Given the description of an element on the screen output the (x, y) to click on. 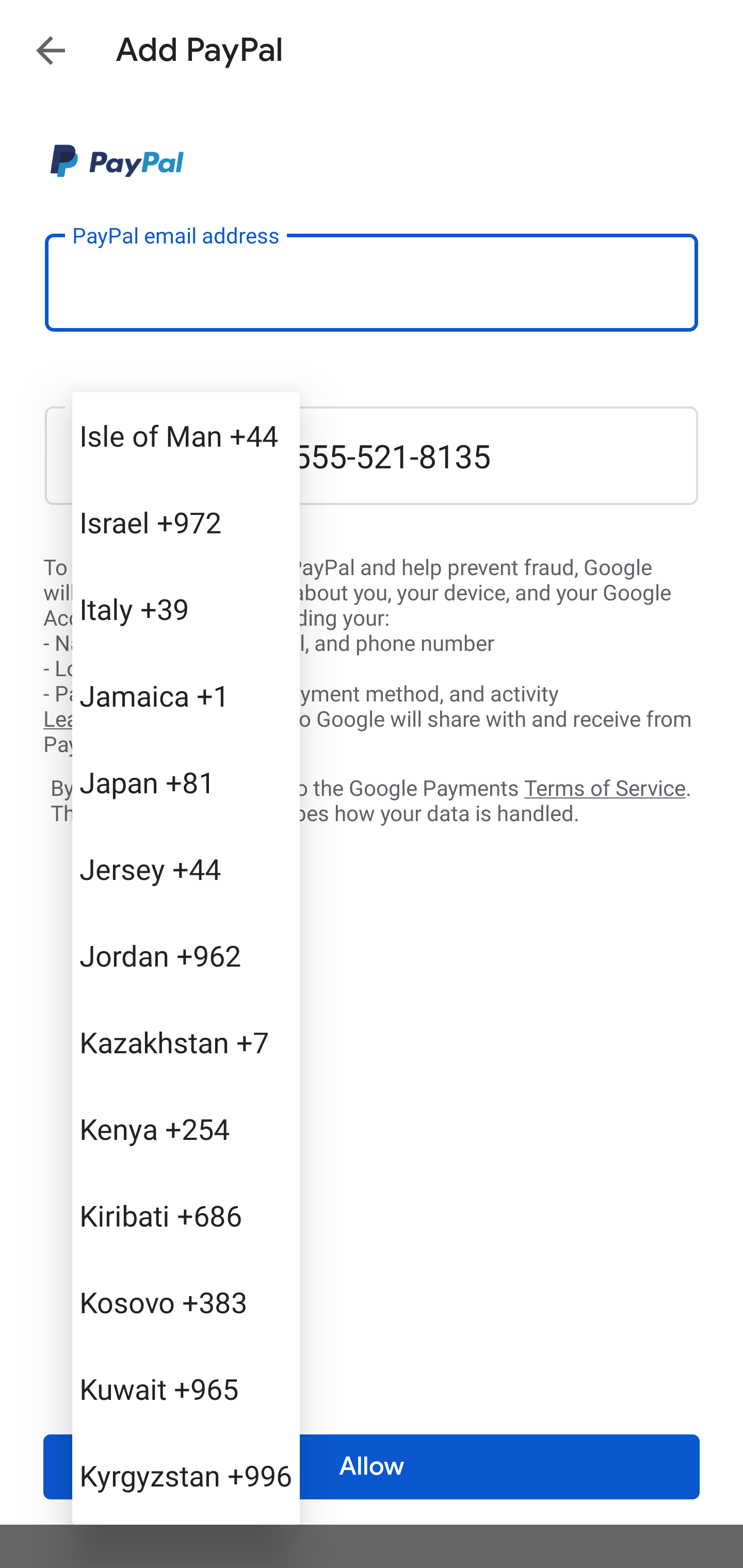
Isle of Man +44 (185, 435)
Israel +972 (185, 522)
Italy +39 (185, 609)
Jamaica +1 (185, 695)
Japan +81 (185, 781)
Jersey +44 (185, 868)
Jordan +962 (185, 955)
Kazakhstan +7 (185, 1041)
Kenya +254 (185, 1128)
Kiribati +686 (185, 1215)
Kosovo +383 (185, 1302)
Kuwait +965 (185, 1388)
Kyrgyzstan +996 (185, 1474)
